Given the description of an element on the screen output the (x, y) to click on. 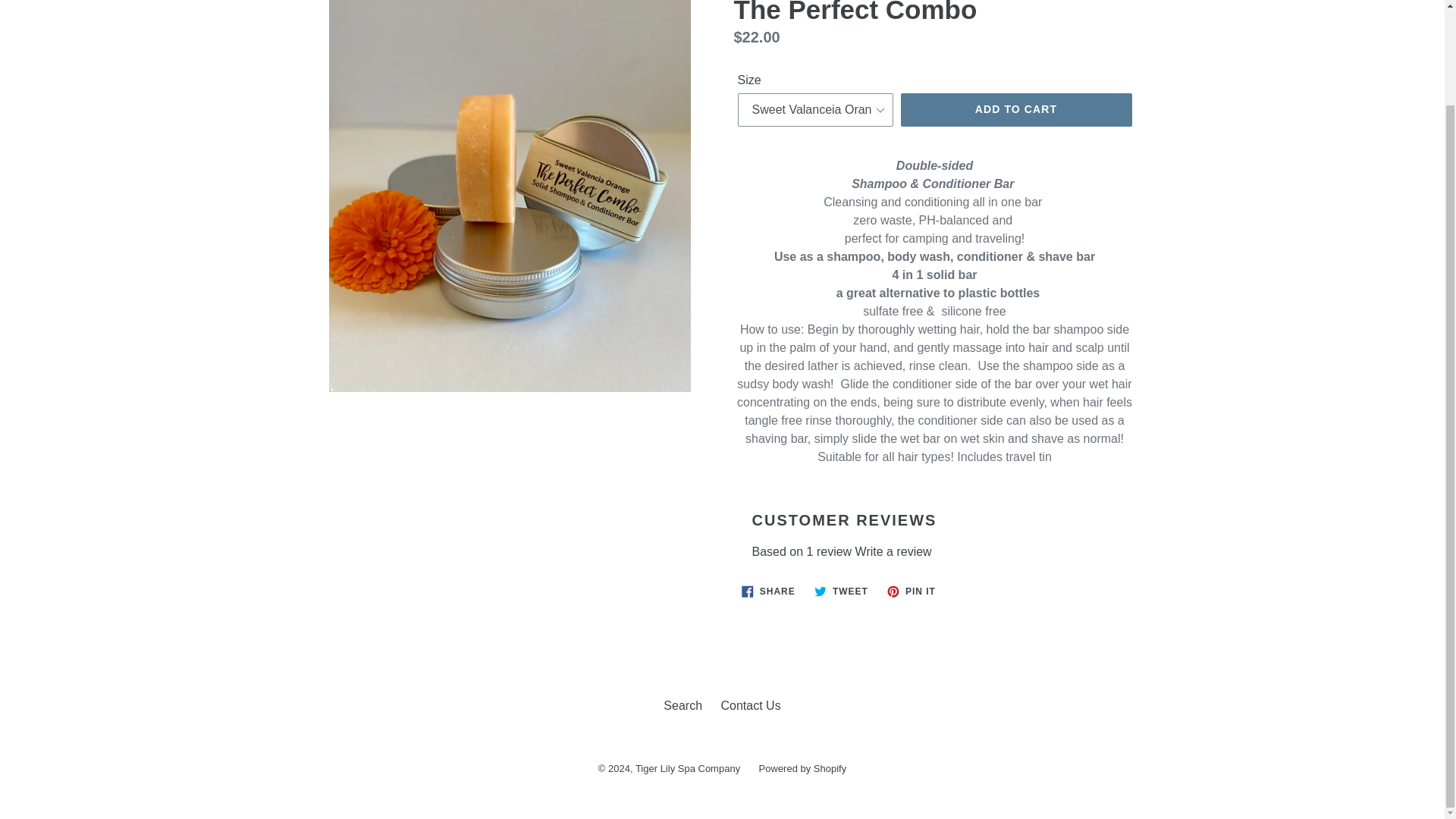
Tiger Lily Spa Company (686, 767)
ADD TO CART (841, 591)
Powered by Shopify (1016, 109)
Write a review (768, 591)
Contact Us (911, 591)
Search (802, 767)
